Given the description of an element on the screen output the (x, y) to click on. 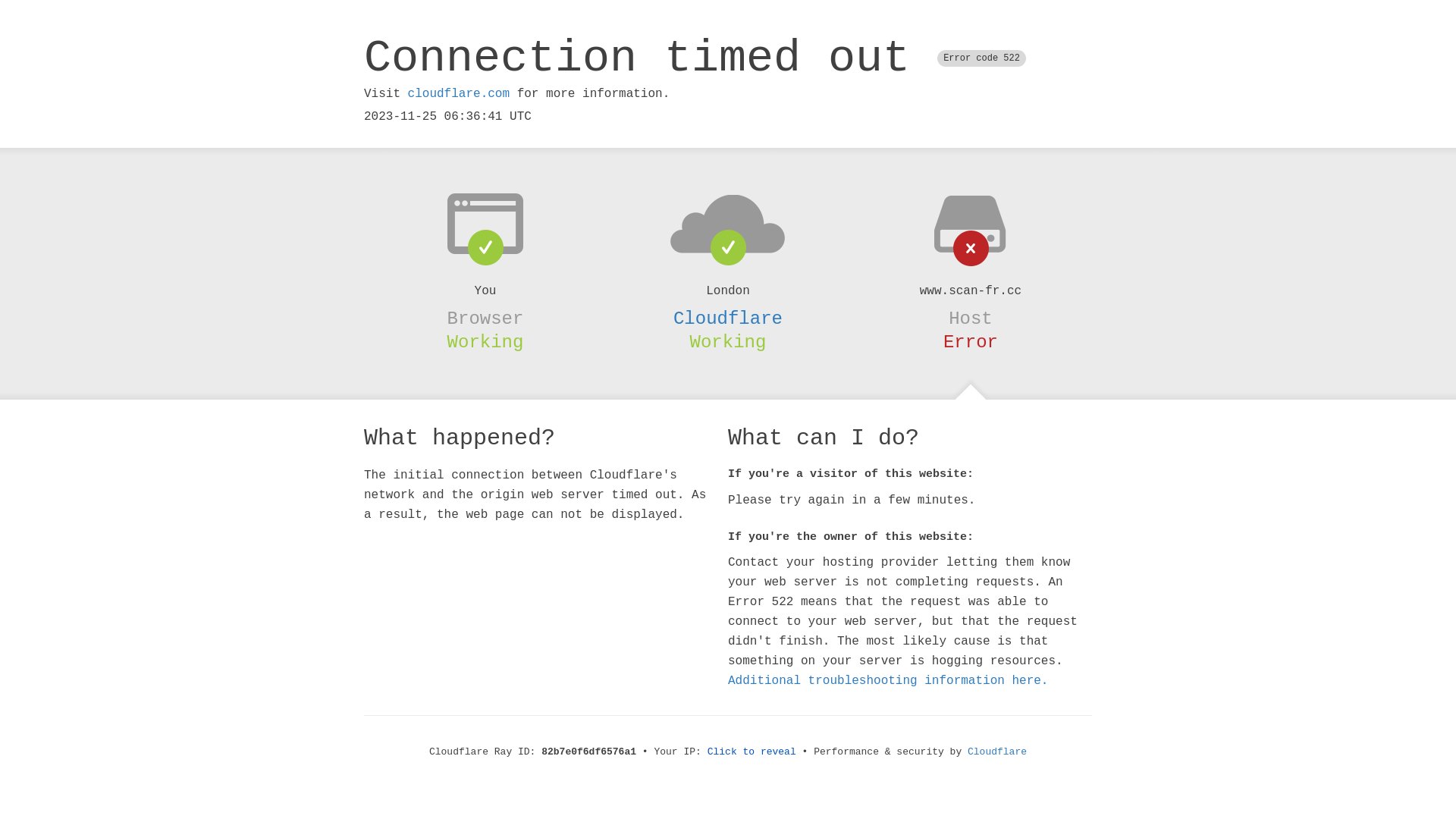
Cloudflare Element type: text (996, 751)
Additional troubleshooting information here. Element type: text (888, 680)
Cloudflare Element type: text (727, 318)
cloudflare.com Element type: text (458, 93)
Click to reveal Element type: text (751, 751)
